Given the description of an element on the screen output the (x, y) to click on. 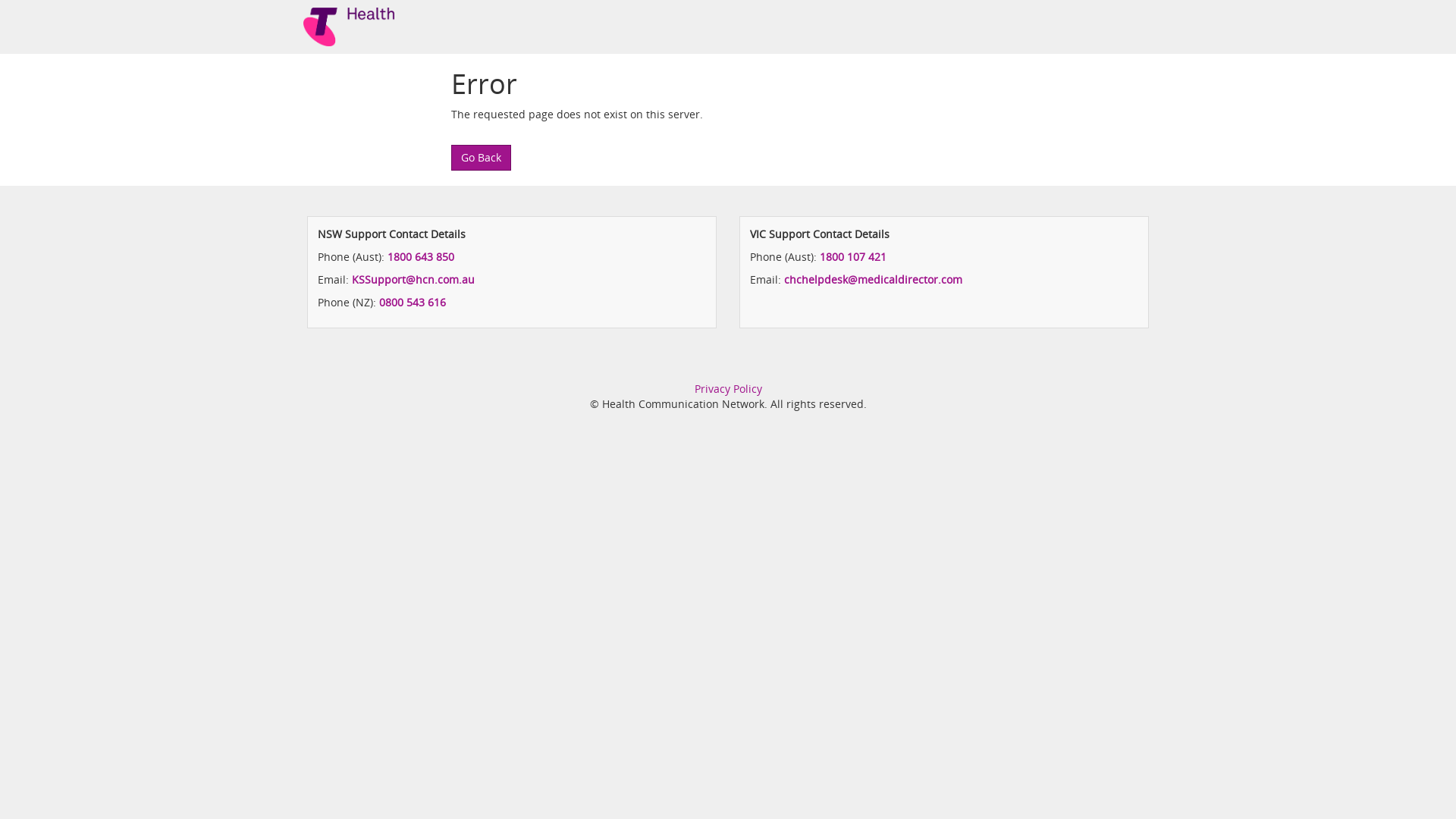
Privacy Policy Element type: text (728, 388)
1800 643 850 Element type: text (420, 256)
chchelpdesk@medicaldirector.com Element type: text (873, 279)
Go Back Element type: text (481, 157)
0800 543 616 Element type: text (412, 301)
1800 107 421 Element type: text (852, 256)
KSSupport@hcn.com.au Element type: text (412, 279)
